Given the description of an element on the screen output the (x, y) to click on. 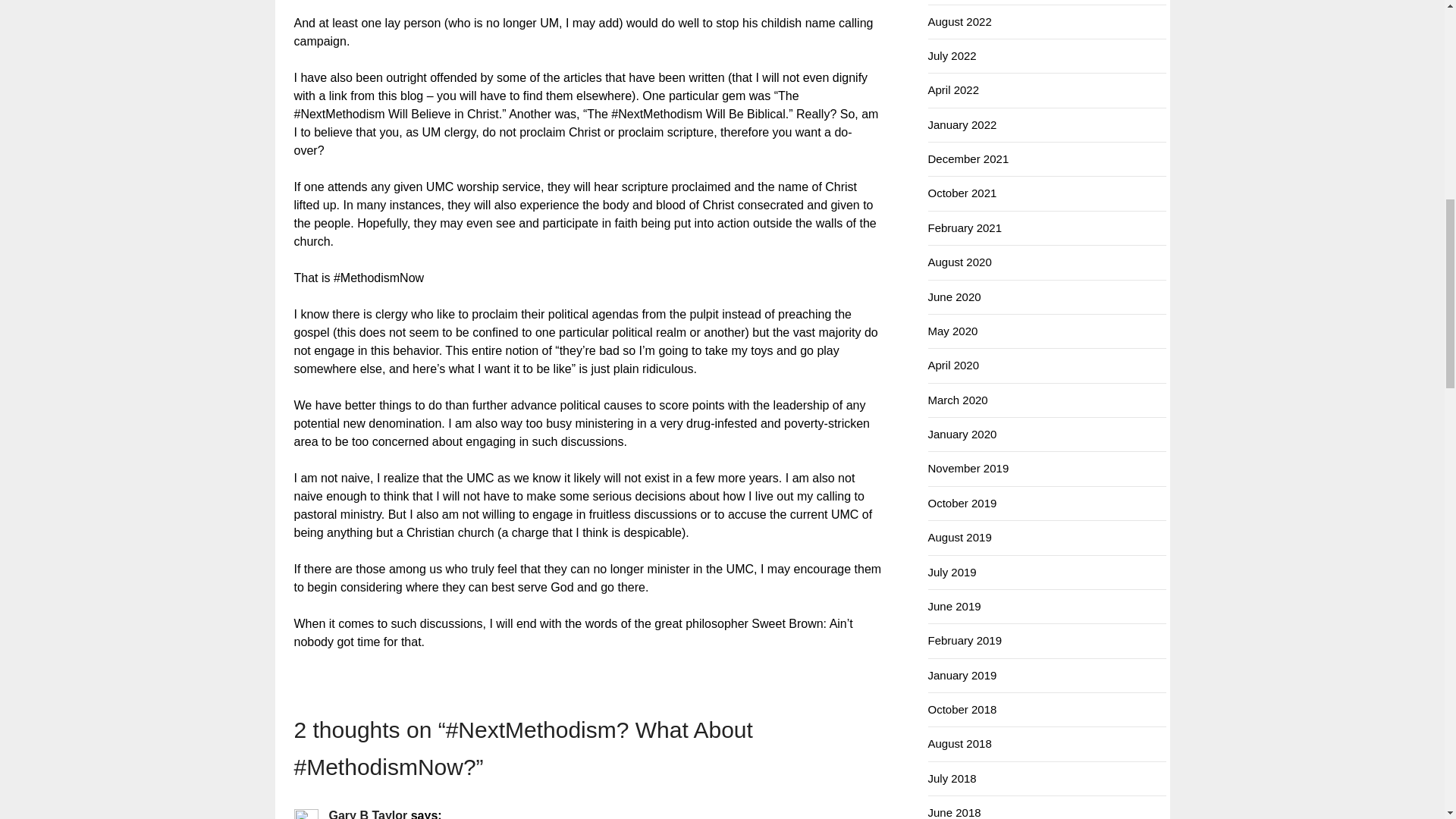
August 2022 (959, 21)
December 2021 (968, 158)
April 2022 (953, 89)
July 2022 (952, 55)
August 2020 (959, 261)
February 2021 (965, 227)
January 2022 (962, 124)
October 2021 (962, 192)
Gary B Taylor (368, 813)
